Given the description of an element on the screen output the (x, y) to click on. 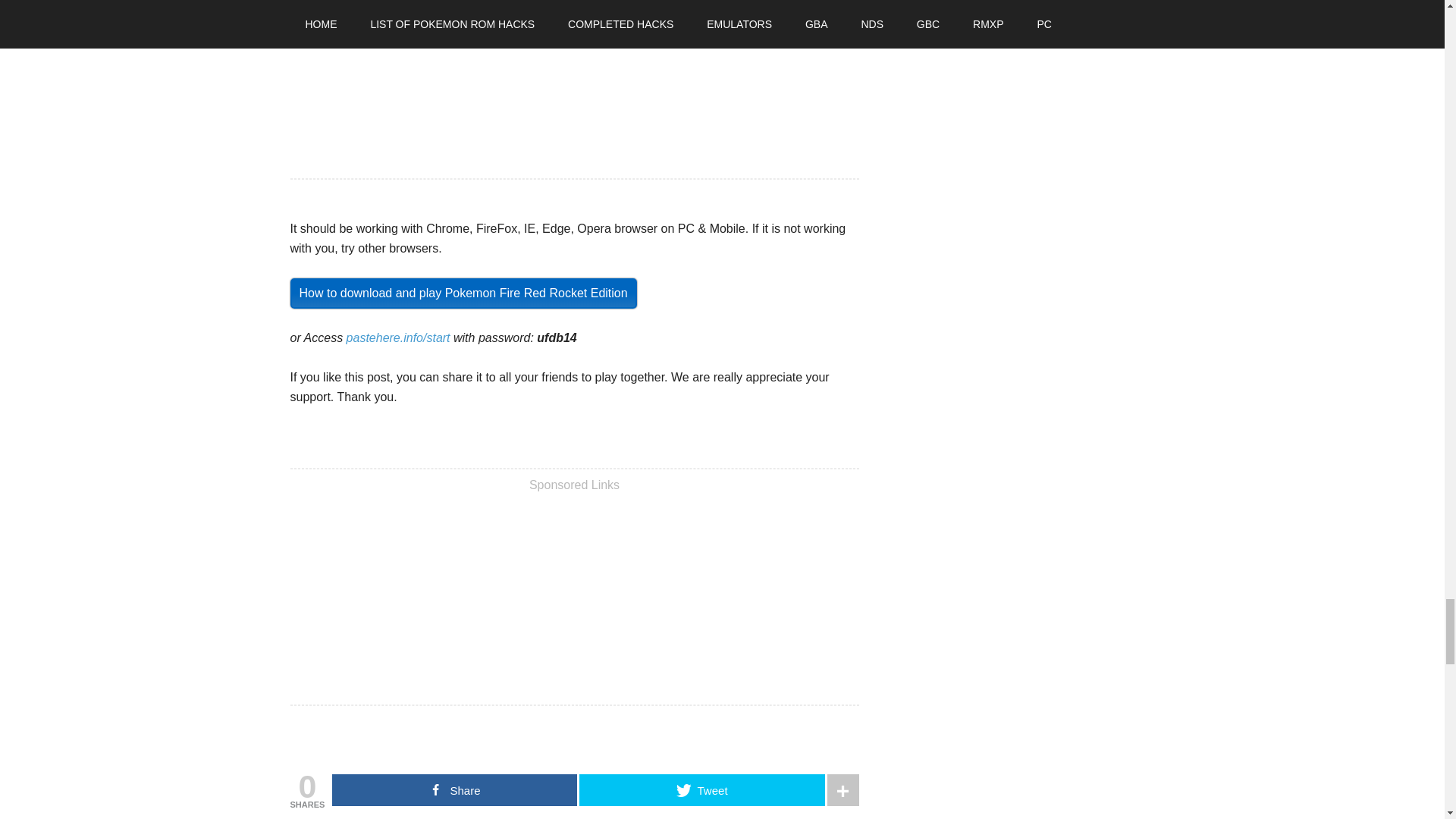
Tweet (701, 789)
How to download and play Pokemon Fire Red Rocket Edition (462, 293)
Share (453, 789)
